Given the description of an element on the screen output the (x, y) to click on. 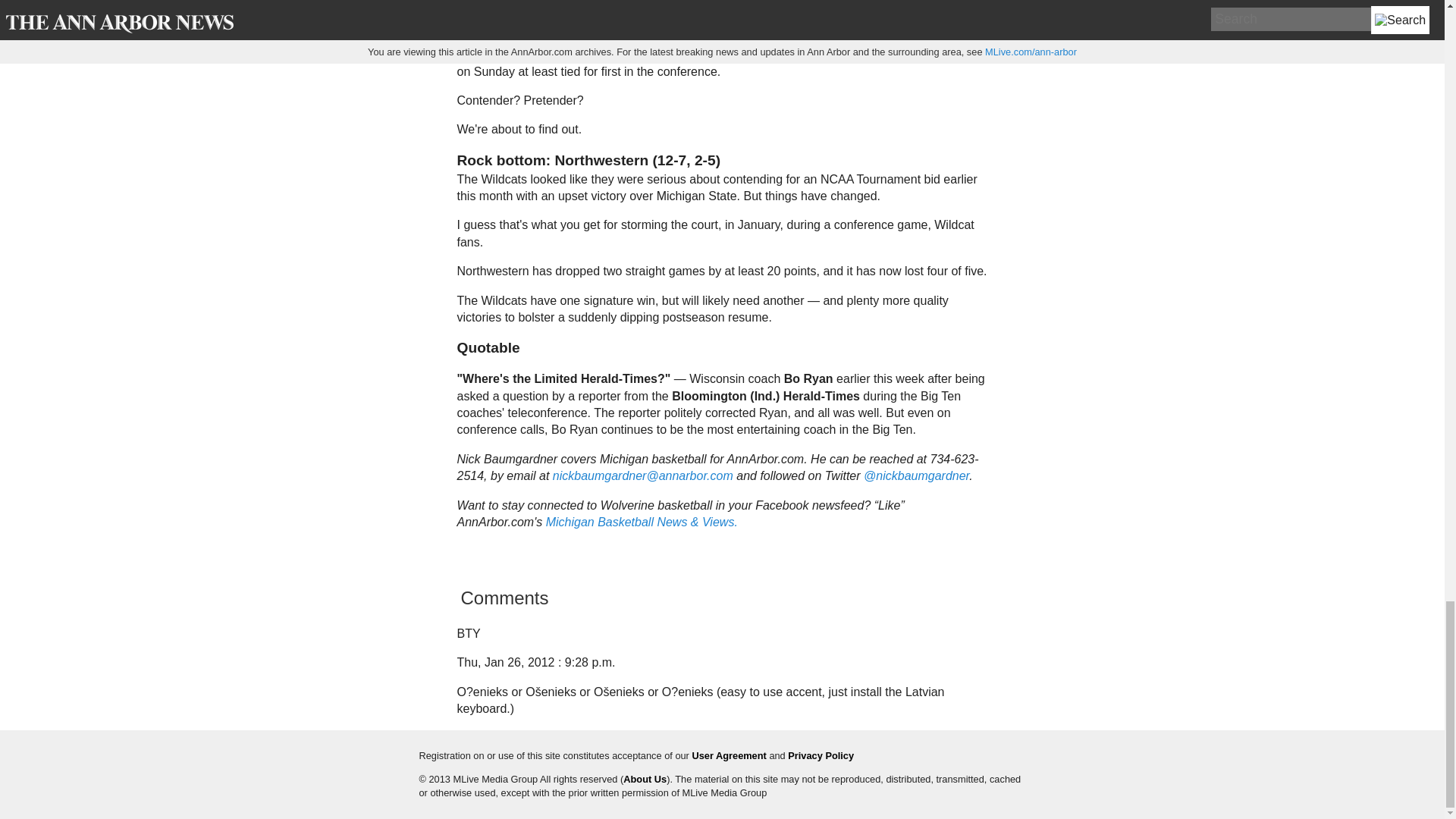
About Us (644, 778)
Privacy Policy (820, 755)
User Agreement (728, 755)
